Given the description of an element on the screen output the (x, y) to click on. 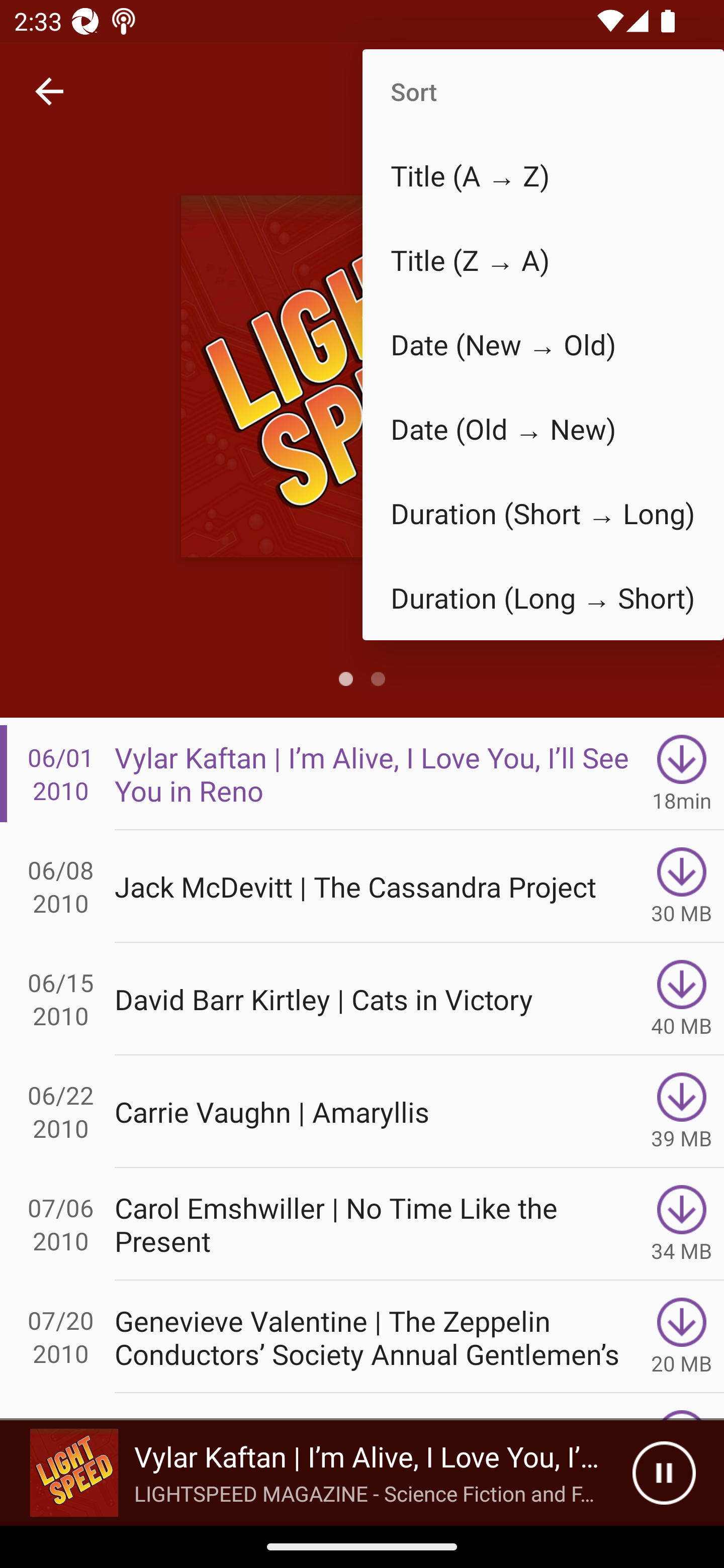
Title (A → Z) (543, 175)
Title (Z → A) (543, 259)
Date (New → Old) (543, 344)
Date (Old → New) (543, 429)
Duration (Short → Long) (543, 513)
Duration (Long → Short) (543, 597)
